Given the description of an element on the screen output the (x, y) to click on. 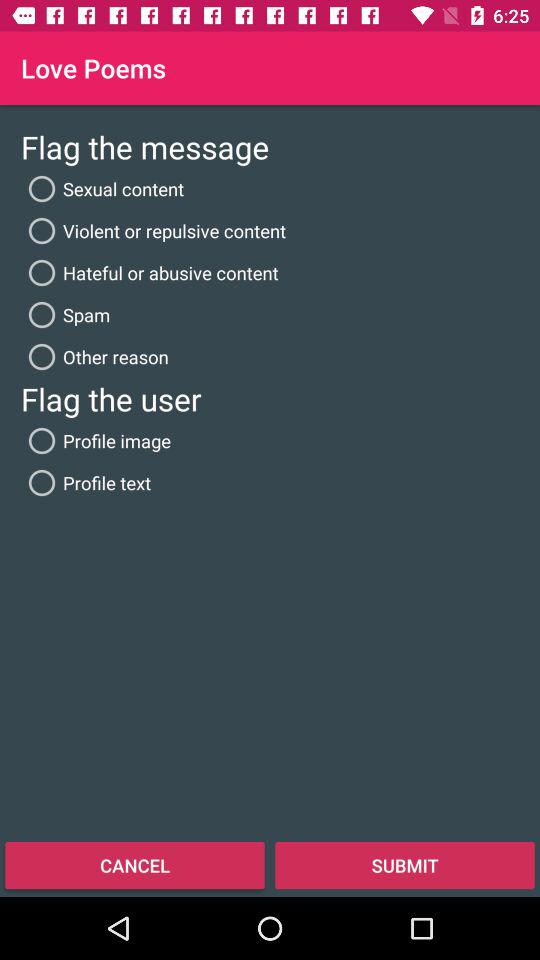
swipe to the sexual content item (102, 188)
